Given the description of an element on the screen output the (x, y) to click on. 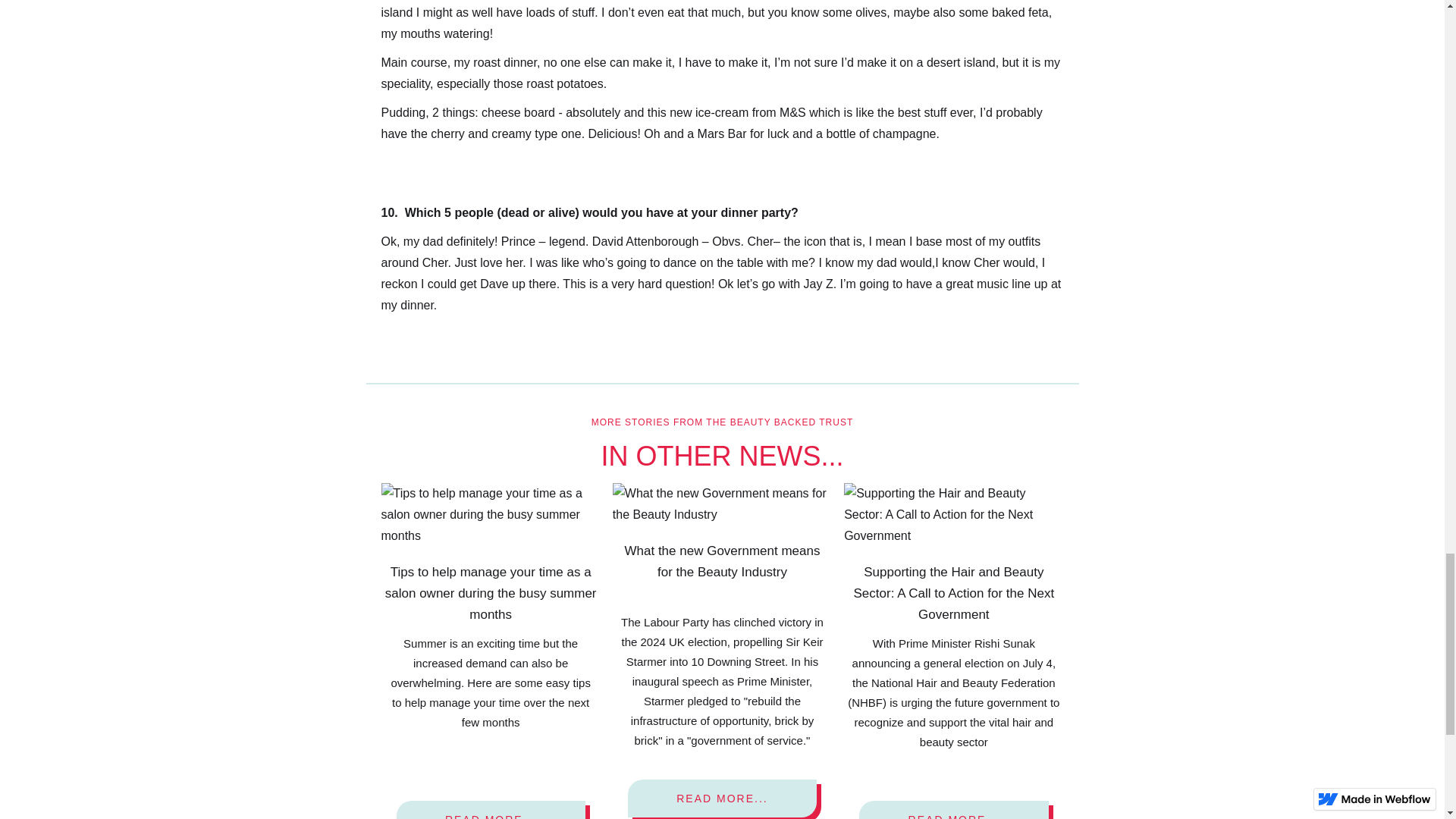
READ MORE... (953, 809)
READ MORE... (721, 798)
READ MORE... (490, 809)
